Given the description of an element on the screen output the (x, y) to click on. 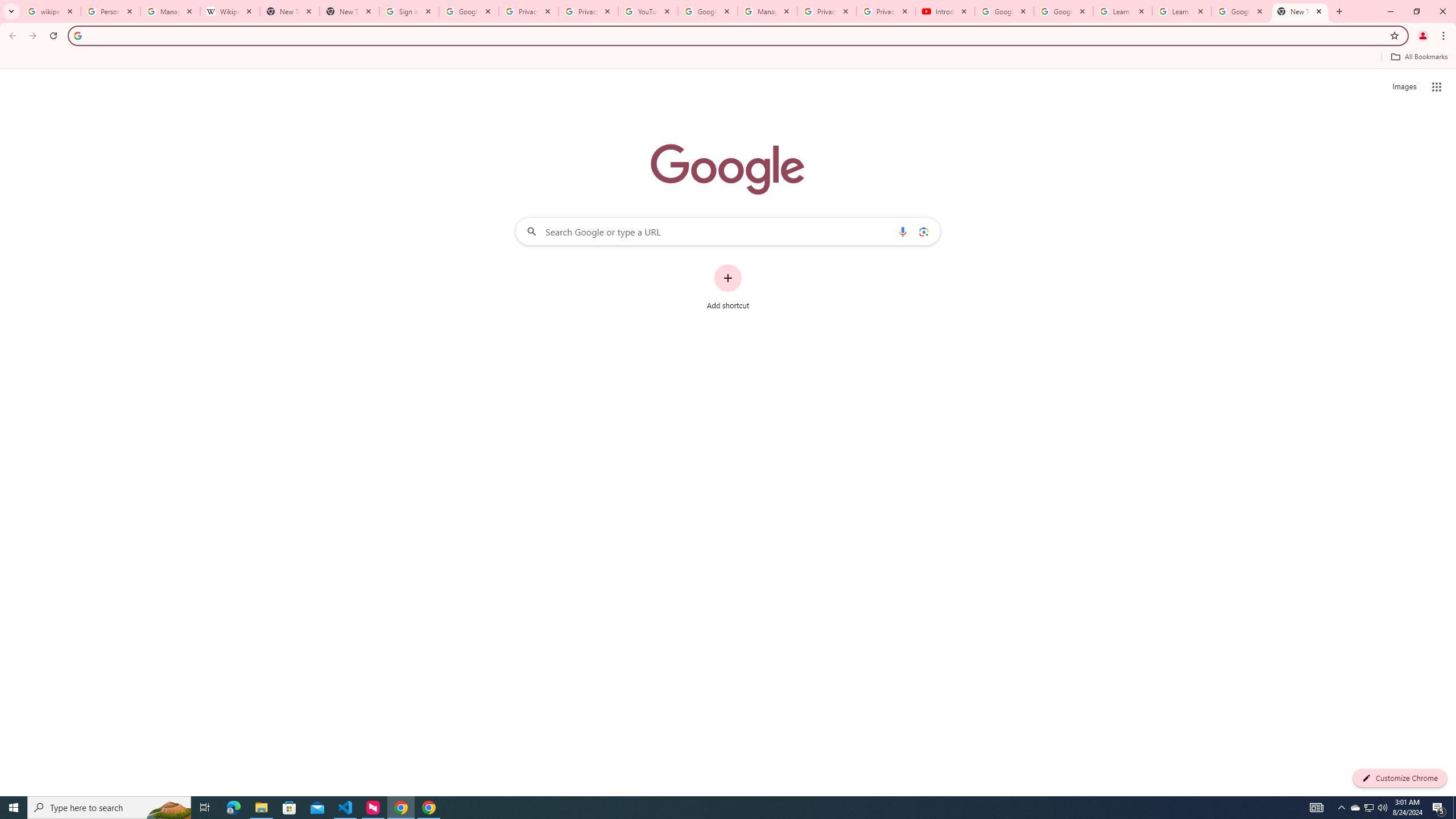
Search for Images  (1403, 87)
Search by image (922, 230)
Customize Chrome (1399, 778)
YouTube (647, 11)
Add shortcut (727, 287)
Google Account Help (1063, 11)
Search Google or type a URL (727, 230)
Google Account Help (1004, 11)
New Tab (1300, 11)
